Given the description of an element on the screen output the (x, y) to click on. 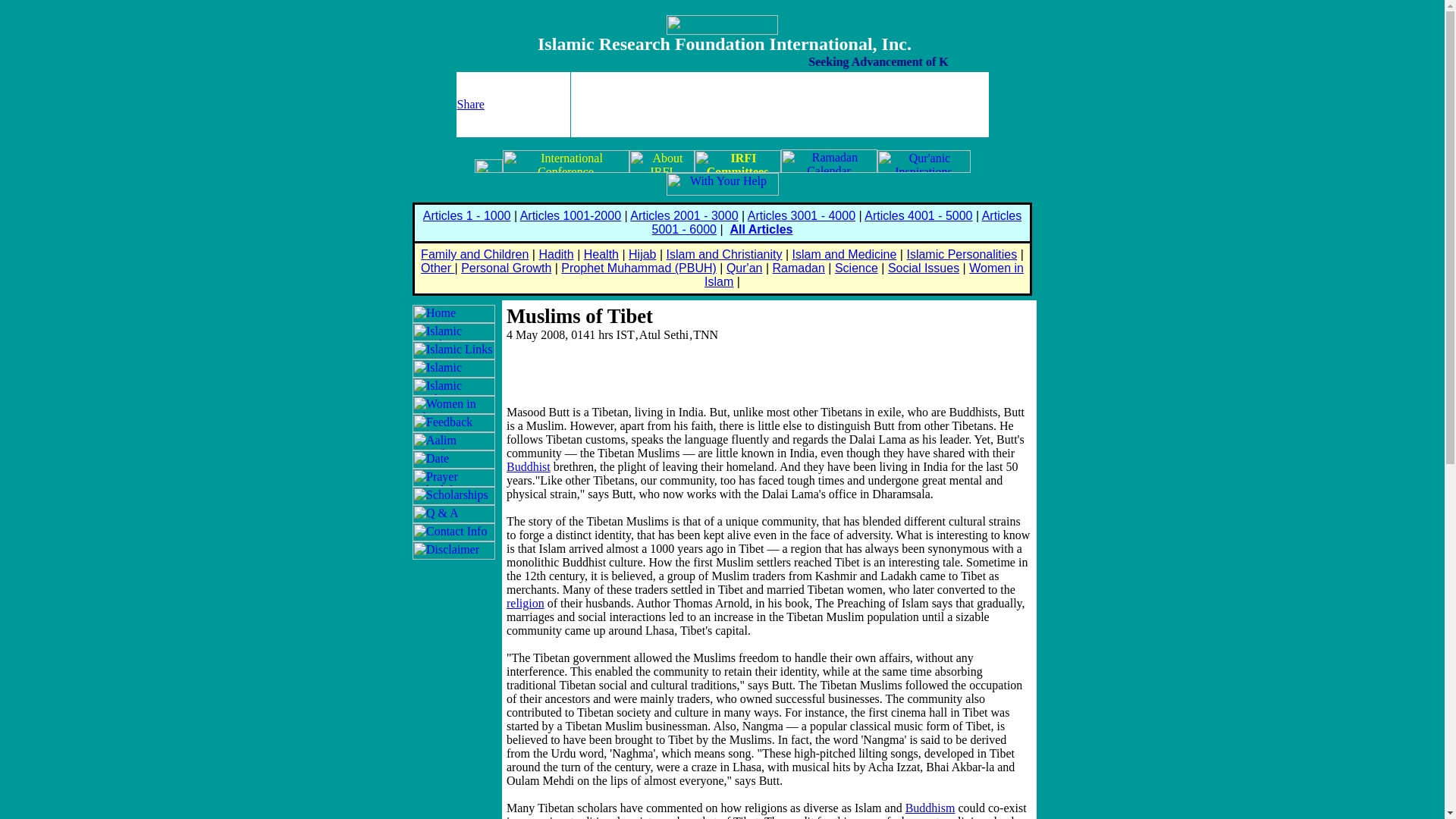
Personal Growth (506, 267)
Articles 5001 - 6000 (837, 222)
Hijab (642, 254)
Articles 4001 - 5000 (918, 215)
Social Issues (923, 267)
Islam and Christianity (724, 254)
Family and Children (474, 254)
Qur'an (744, 267)
Other (437, 267)
Science (855, 267)
Share (470, 103)
Articles 2001 - 3000 (684, 215)
Articles 3001 - 4000 (802, 215)
Health (600, 254)
Hadith (555, 254)
